Given the description of an element on the screen output the (x, y) to click on. 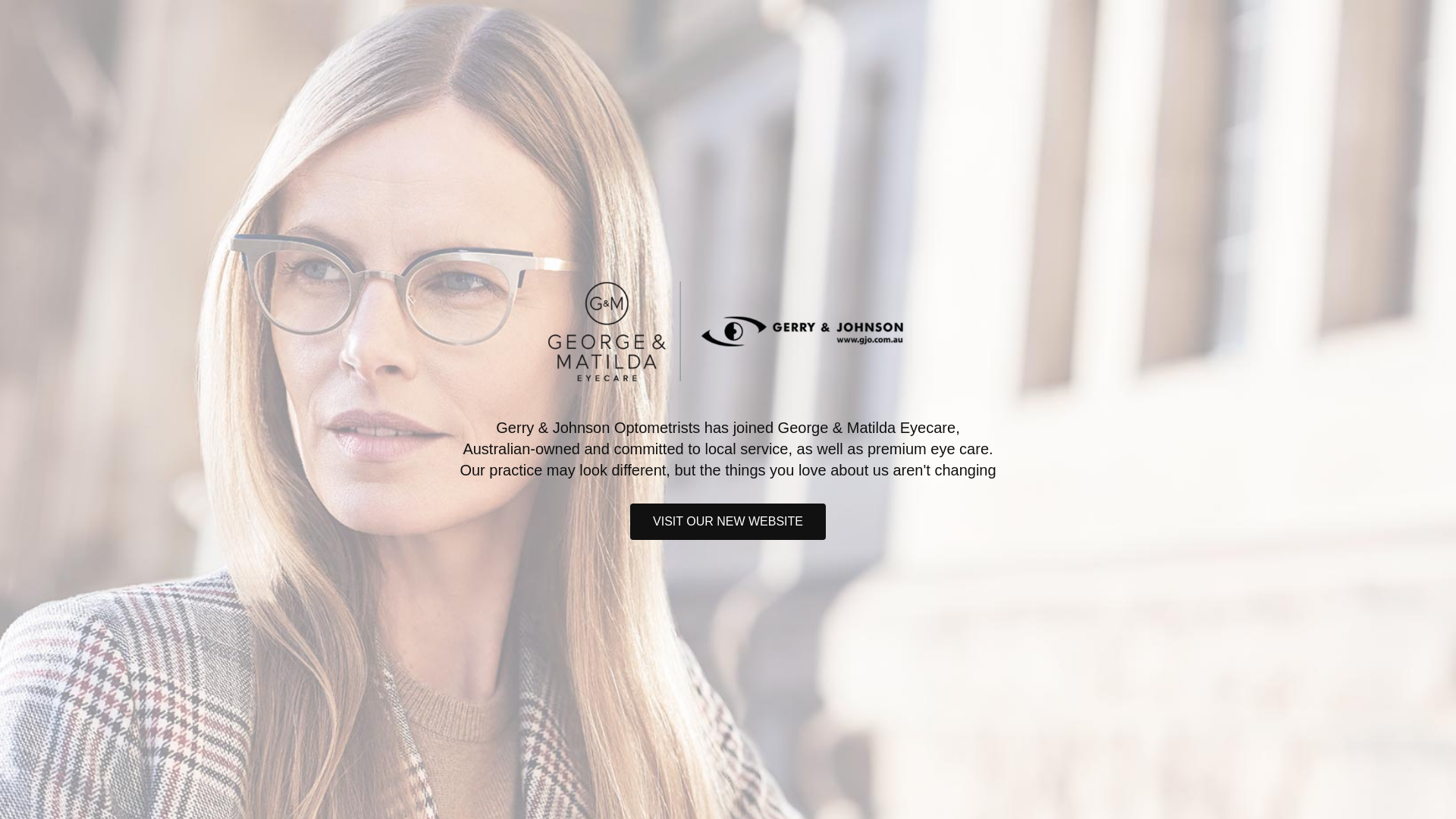
VISIT OUR NEW WEBSITE Element type: text (727, 521)
